Given the description of an element on the screen output the (x, y) to click on. 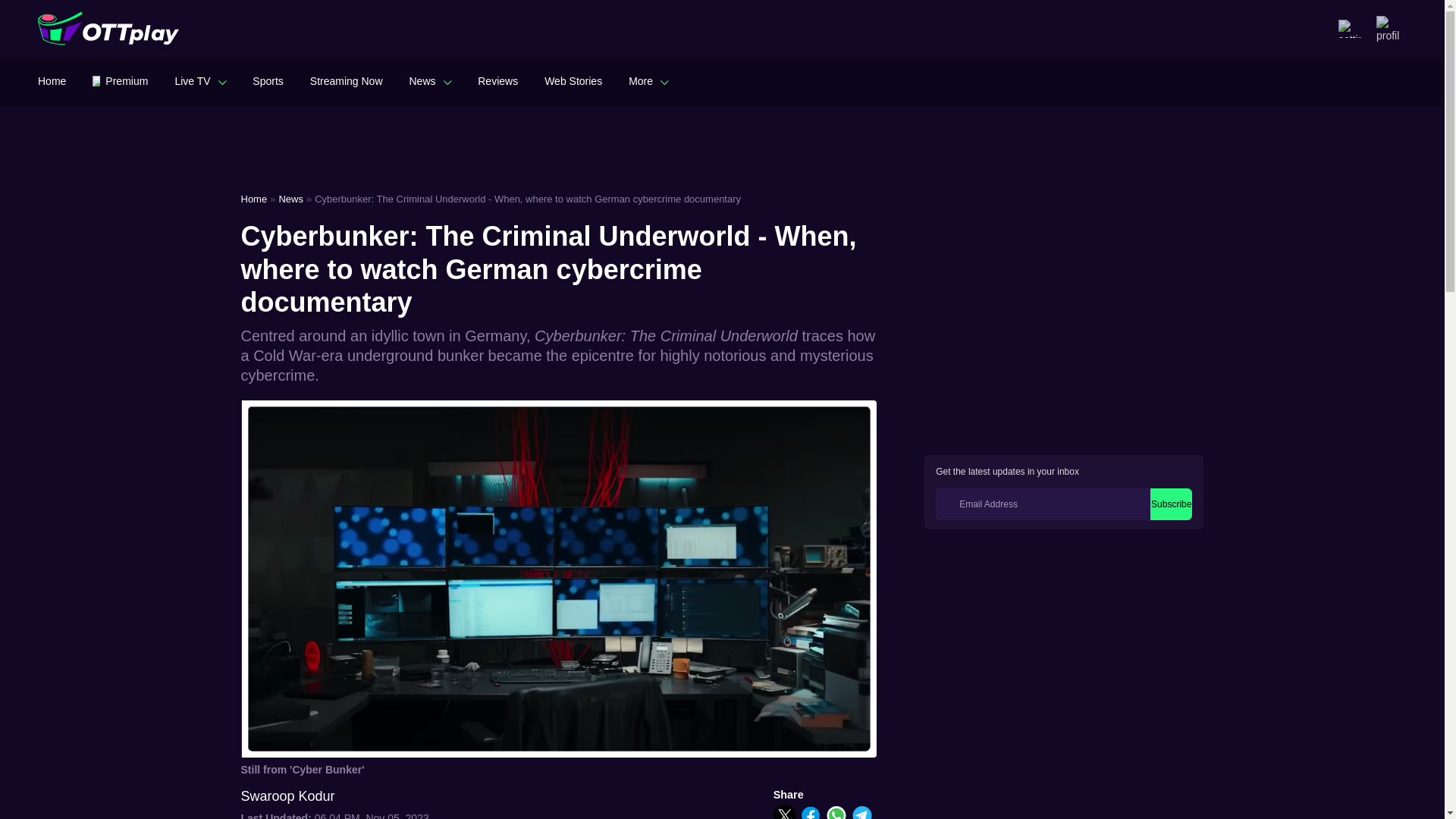
Streaming Now (346, 80)
Live TV (199, 80)
Web Stories (573, 80)
Premium (120, 80)
News (430, 80)
